Given the description of an element on the screen output the (x, y) to click on. 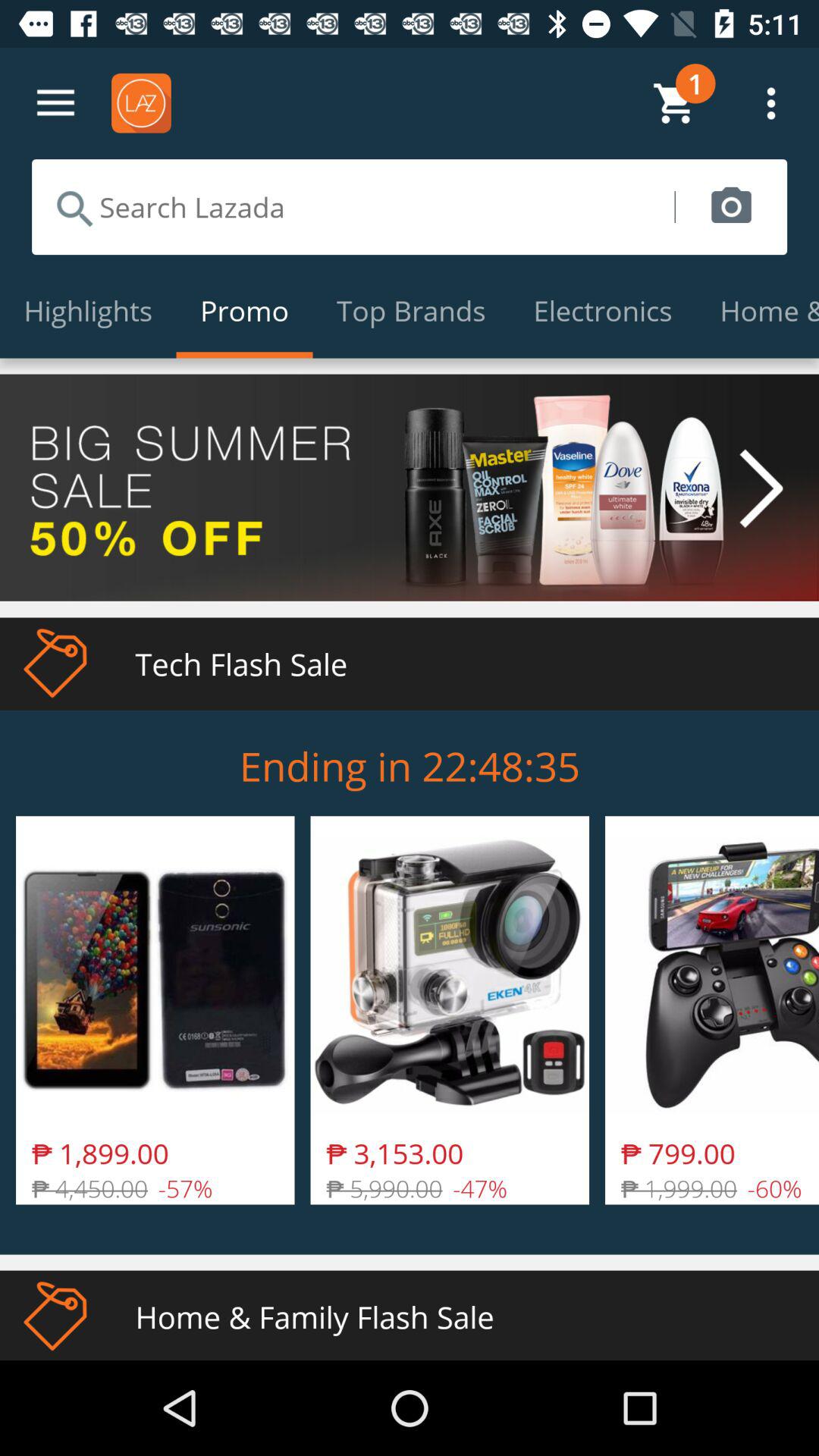
go settings option (55, 103)
